Given the description of an element on the screen output the (x, y) to click on. 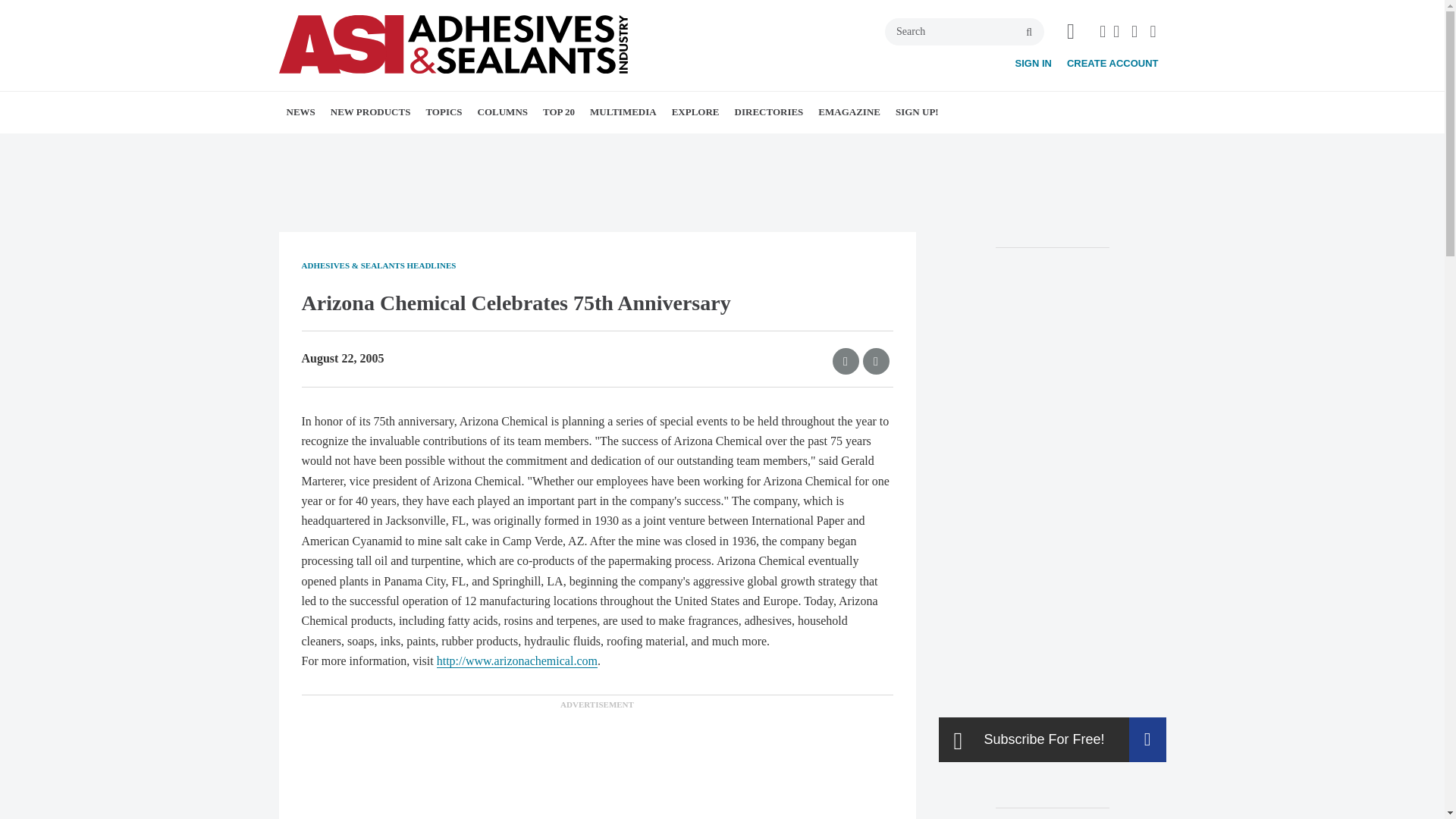
NEW PRODUCTS (371, 111)
MARKET TRENDS (402, 145)
SUSTAINABILITY (564, 145)
TOPICS (442, 111)
Search (964, 31)
SIGN IN (1032, 62)
search (1029, 32)
STRATEGIC SOLUTIONS (582, 145)
COLUMNS (502, 111)
SPECIALTY CHEMICALS INSIGHTS (577, 145)
2022 WORLD ADHESIVE AND SEALANT CONFERENCE (384, 154)
NEWS (301, 111)
COMPOSITES (562, 145)
Search (964, 31)
FINISHED ADHESIVES AND SEALANTS (512, 154)
